Given the description of an element on the screen output the (x, y) to click on. 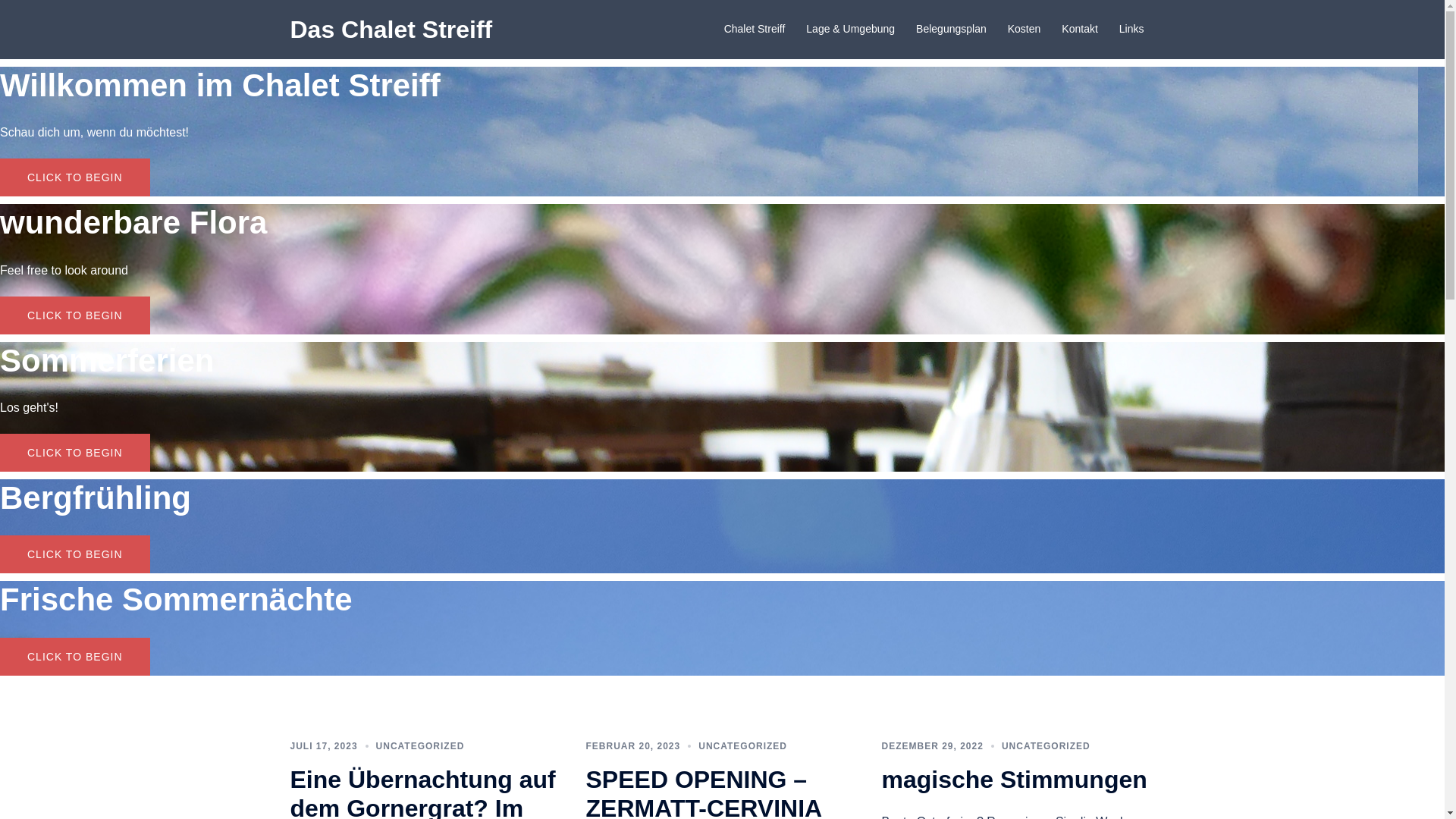
CLICK TO BEGIN Element type: text (75, 656)
Kontakt Element type: text (1079, 29)
CLICK TO BEGIN Element type: text (75, 315)
magische Stimmungen Element type: text (1013, 779)
Lage & Umgebung Element type: text (850, 29)
Links Element type: text (1131, 29)
CLICK TO BEGIN Element type: text (75, 177)
UNCATEGORIZED Element type: text (1045, 745)
Belegungsplan Element type: text (951, 29)
UNCATEGORIZED Element type: text (420, 745)
CLICK TO BEGIN Element type: text (75, 554)
Das Chalet Streiff Element type: text (390, 29)
FEBRUAR 20, 2023 Element type: text (632, 745)
DEZEMBER 29, 2022 Element type: text (931, 745)
Chalet Streiff Element type: text (754, 29)
Kosten Element type: text (1024, 29)
CLICK TO BEGIN Element type: text (75, 452)
UNCATEGORIZED Element type: text (742, 745)
JULI 17, 2023 Element type: text (323, 745)
